Given the description of an element on the screen output the (x, y) to click on. 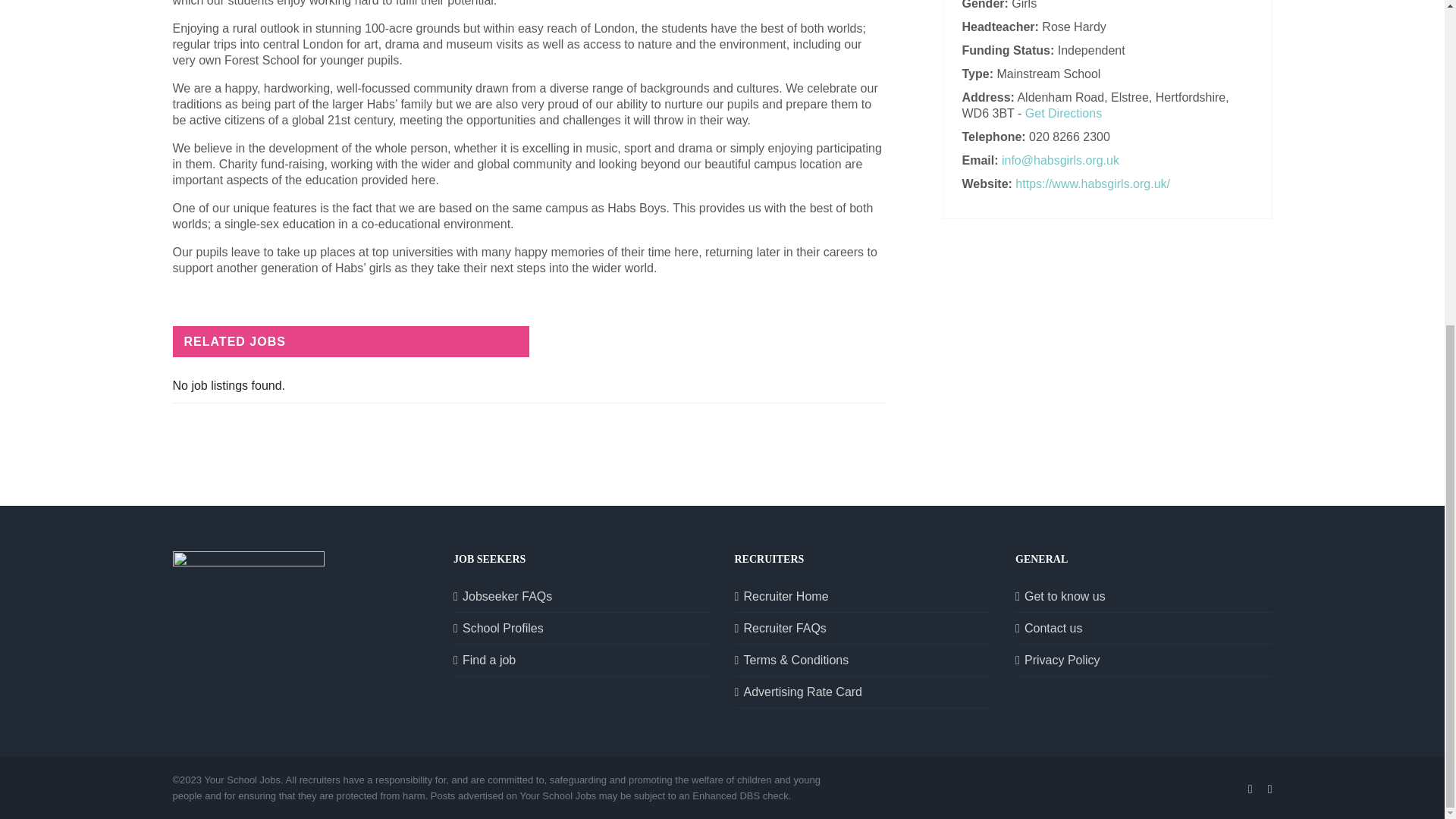
Find a job (583, 659)
Get Directions (1063, 113)
Jobseeker FAQs (583, 596)
Recruiter FAQs (863, 627)
School Profiles (583, 627)
Advertising Rate Card (863, 691)
Recruiter Home (863, 596)
